Given the description of an element on the screen output the (x, y) to click on. 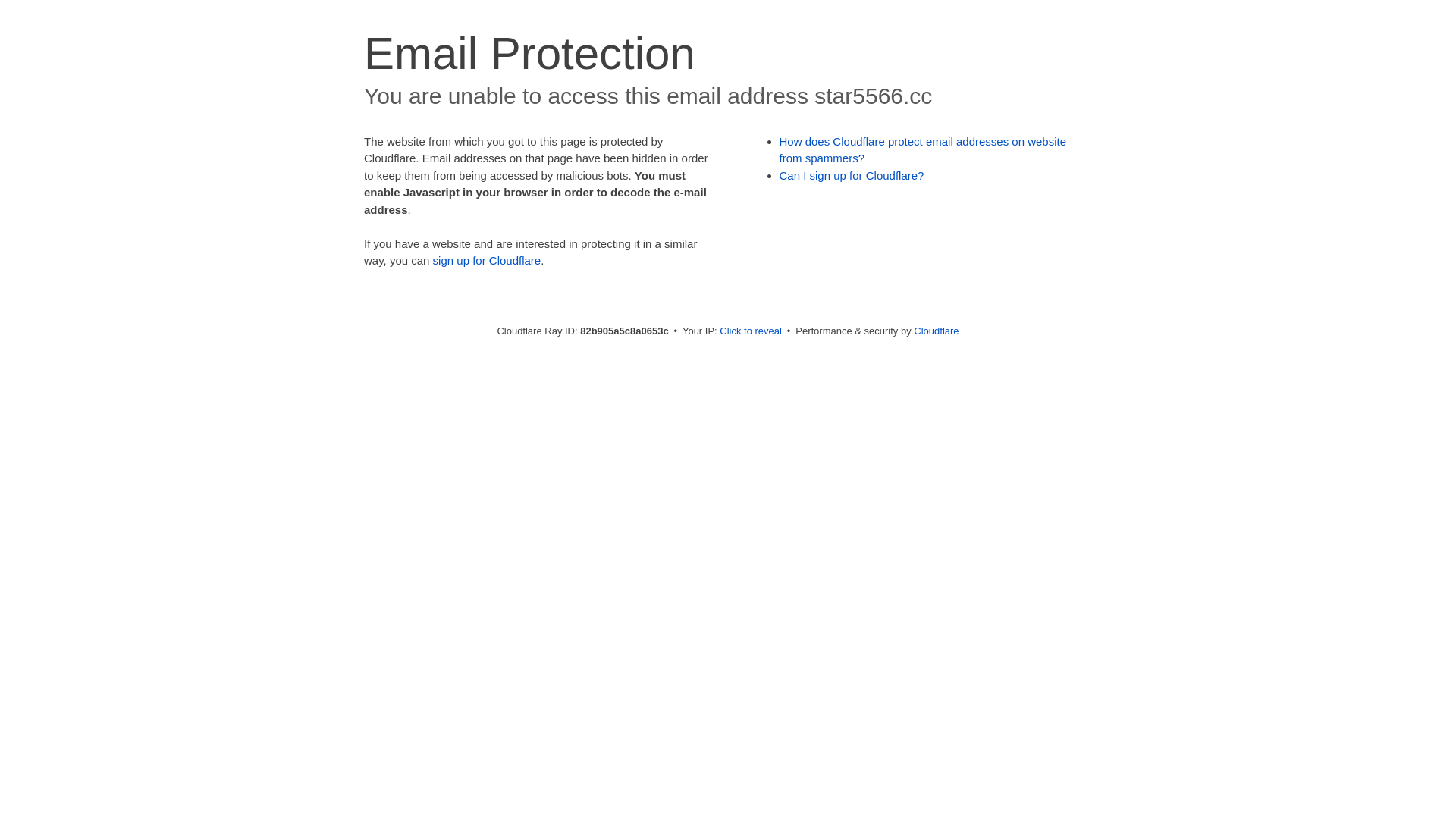
sign up for Cloudflare Element type: text (487, 260)
Click to reveal Element type: text (750, 330)
Cloudflare Element type: text (935, 330)
Can I sign up for Cloudflare? Element type: text (851, 175)
